Given the description of an element on the screen output the (x, y) to click on. 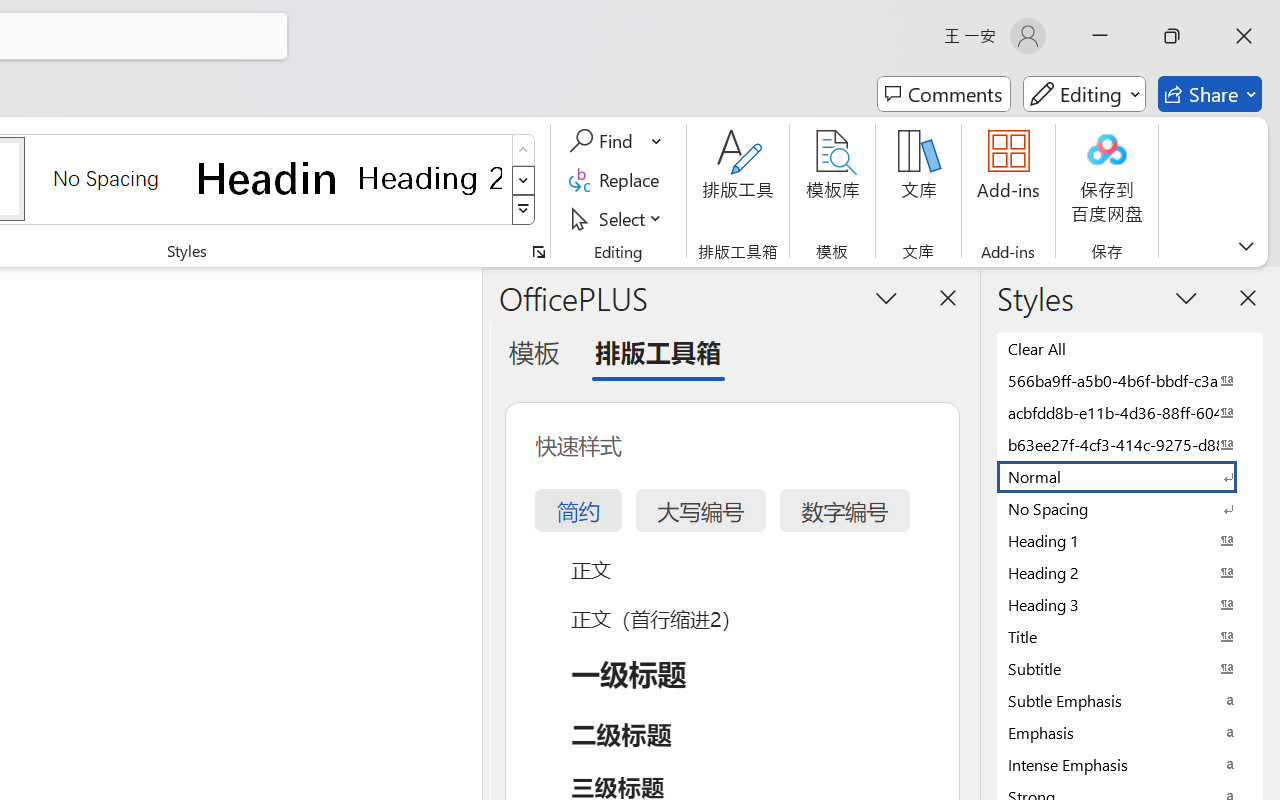
Heading 3 (1130, 604)
Comments (943, 94)
Ribbon Display Options (1246, 245)
